Given the description of an element on the screen output the (x, y) to click on. 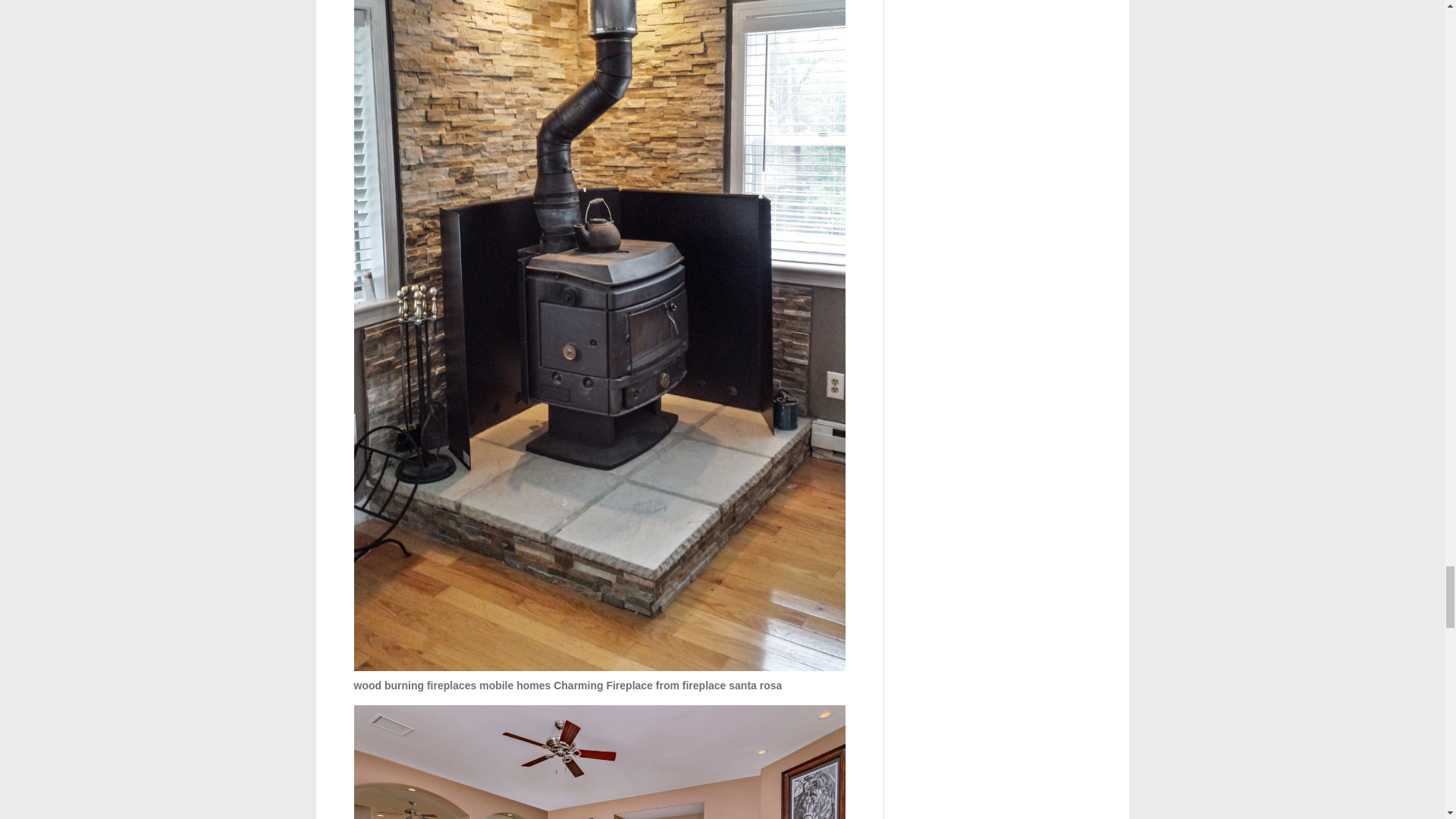
Exquisite Equestrian Estate in the Heart of Temecula Wine (598, 762)
